Given the description of an element on the screen output the (x, y) to click on. 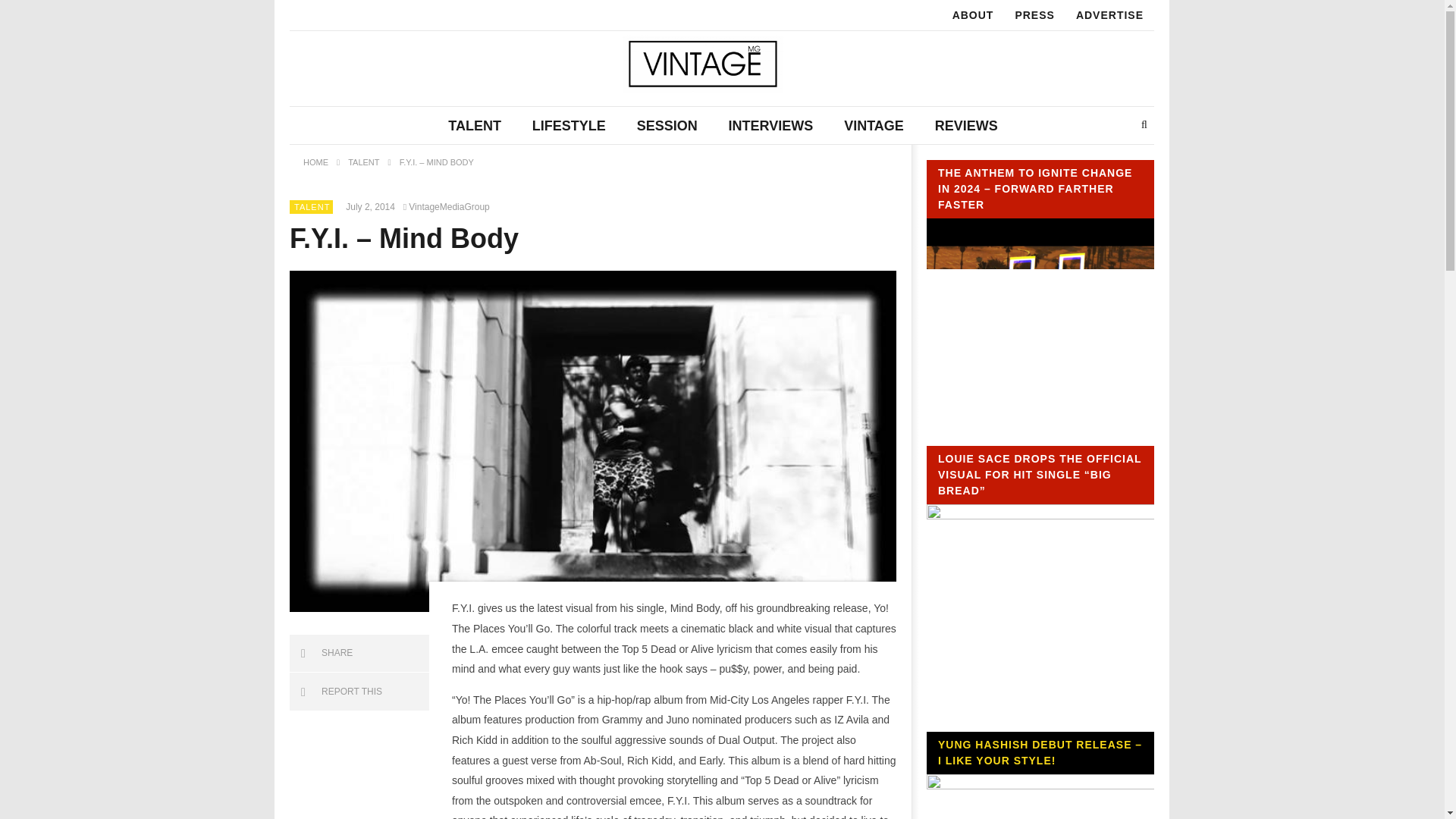
LIFESTYLE (568, 125)
TALENT (312, 205)
share (359, 653)
SESSION (667, 125)
search (1129, 157)
SHARE (359, 653)
VINTAGE (873, 125)
View all posts in Talent (312, 205)
ADVERTISE (1109, 15)
TALENT (474, 125)
